Given the description of an element on the screen output the (x, y) to click on. 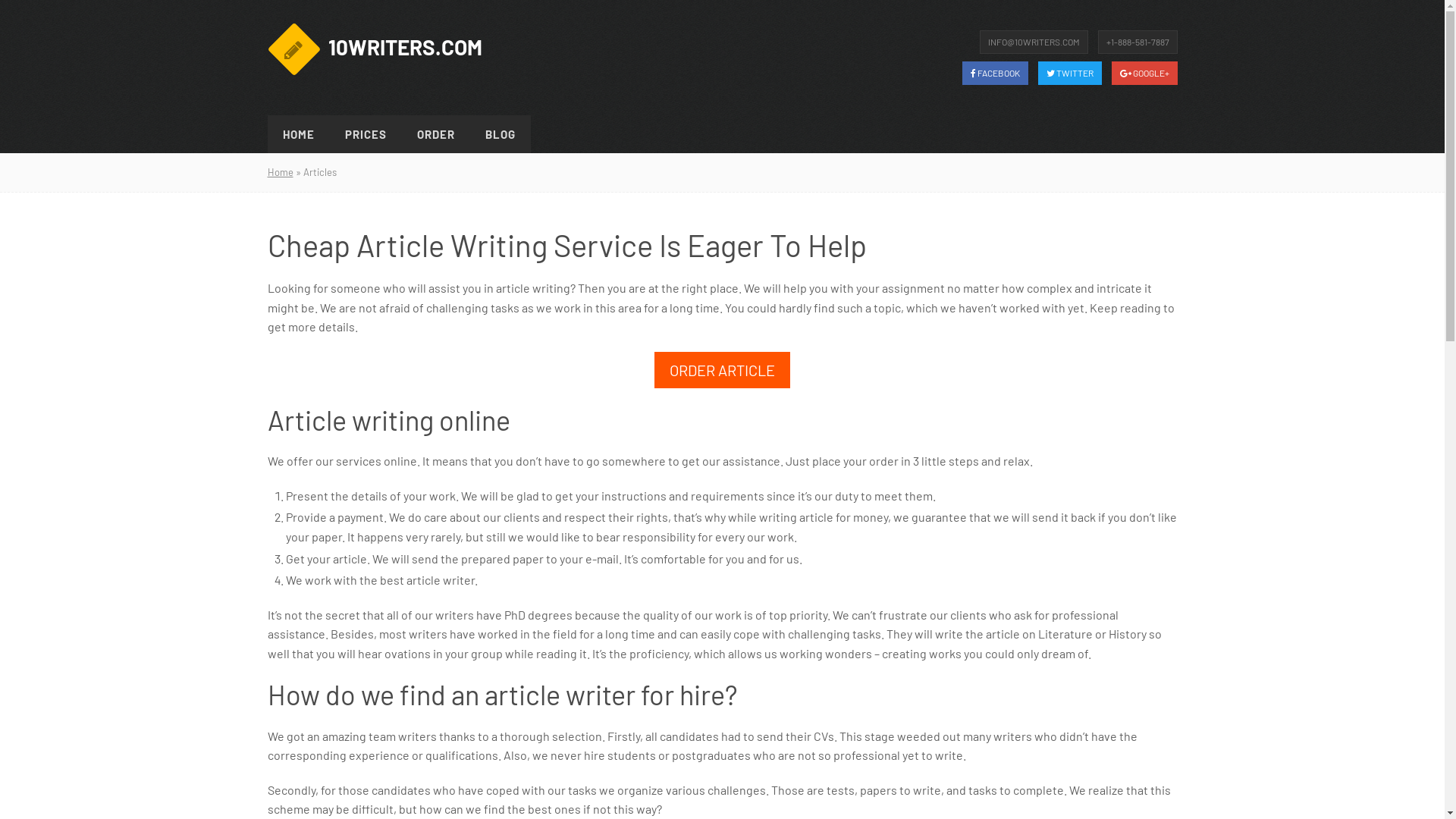
GOOGLE+ Element type: text (1144, 72)
ORDER Element type: text (435, 134)
PRICES Element type: text (365, 134)
HOME Element type: text (297, 134)
INFO@10WRITERS.COM Element type: text (1033, 41)
FACEBOOK Element type: text (994, 72)
Home Element type: text (279, 172)
ORDER ARTICLE Element type: text (722, 369)
+1-888-581-7887 Element type: text (1137, 41)
TWITTER Element type: text (1069, 72)
10WRITERS.COM Element type: text (377, 49)
BLOG Element type: text (500, 134)
